Given the description of an element on the screen output the (x, y) to click on. 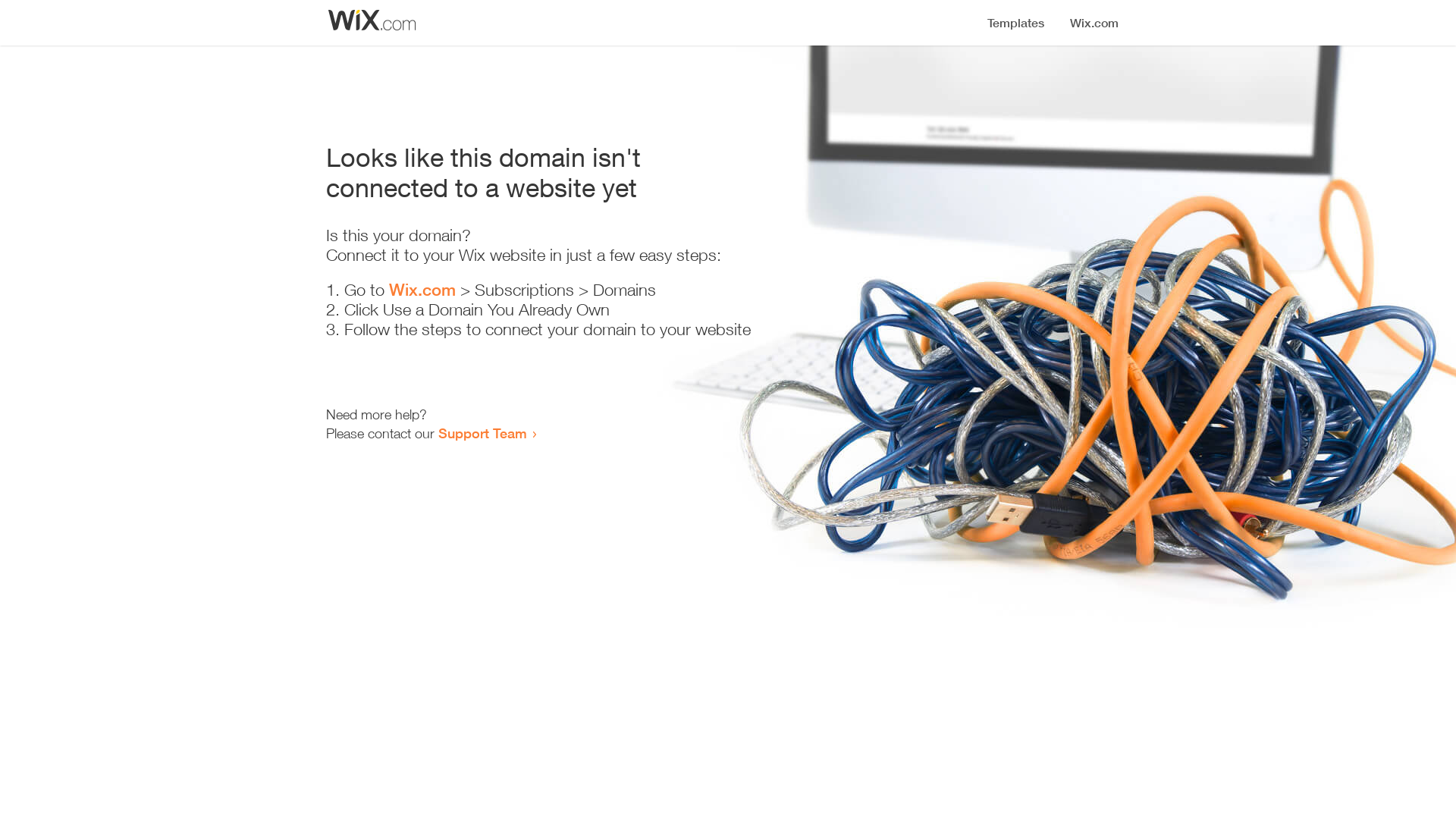
Support Team Element type: text (482, 432)
Wix.com Element type: text (422, 289)
